Given the description of an element on the screen output the (x, y) to click on. 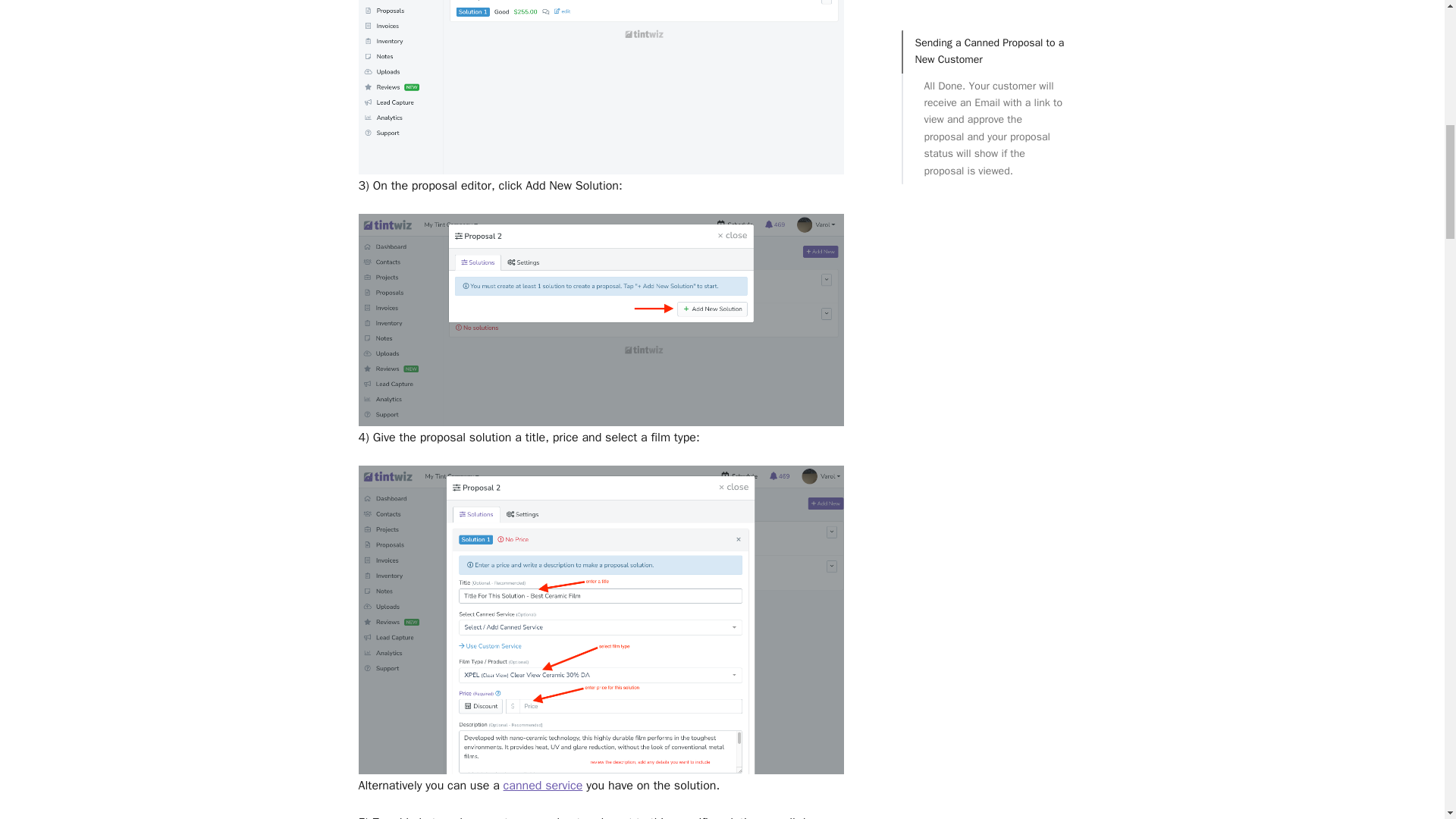
canned service (543, 785)
